Given the description of an element on the screen output the (x, y) to click on. 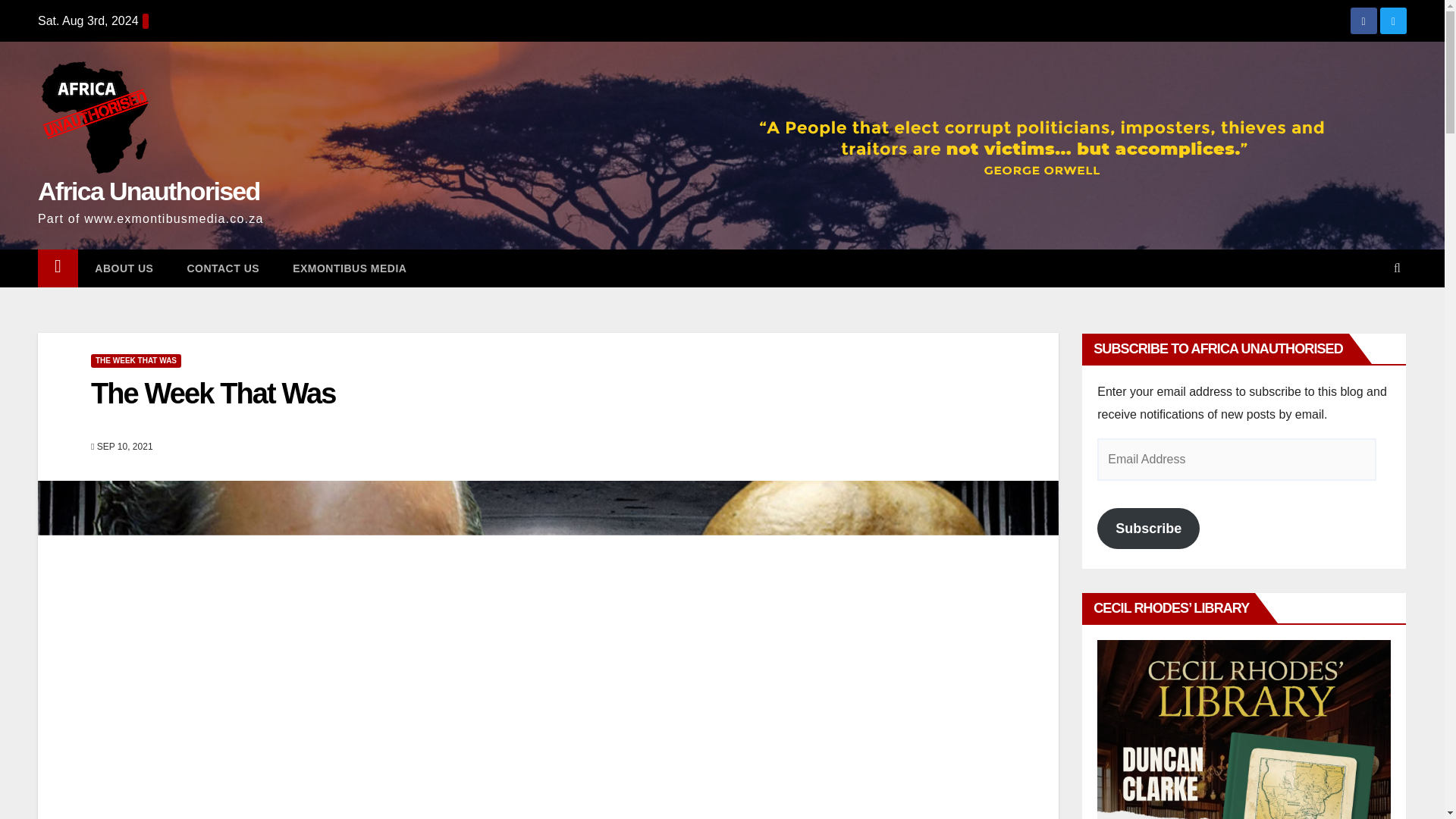
ABOUT US (124, 268)
Africa Unauthorised (148, 190)
THE WEEK THAT WAS (135, 360)
EXMONTIBUS MEDIA (349, 268)
Subscribe (1148, 527)
ADVERTISE WITH AFRICA UNAUTHORISED (1243, 729)
Permalink to: The Week That Was (212, 393)
The Week That Was (212, 393)
CONTACT US (223, 268)
